Given the description of an element on the screen output the (x, y) to click on. 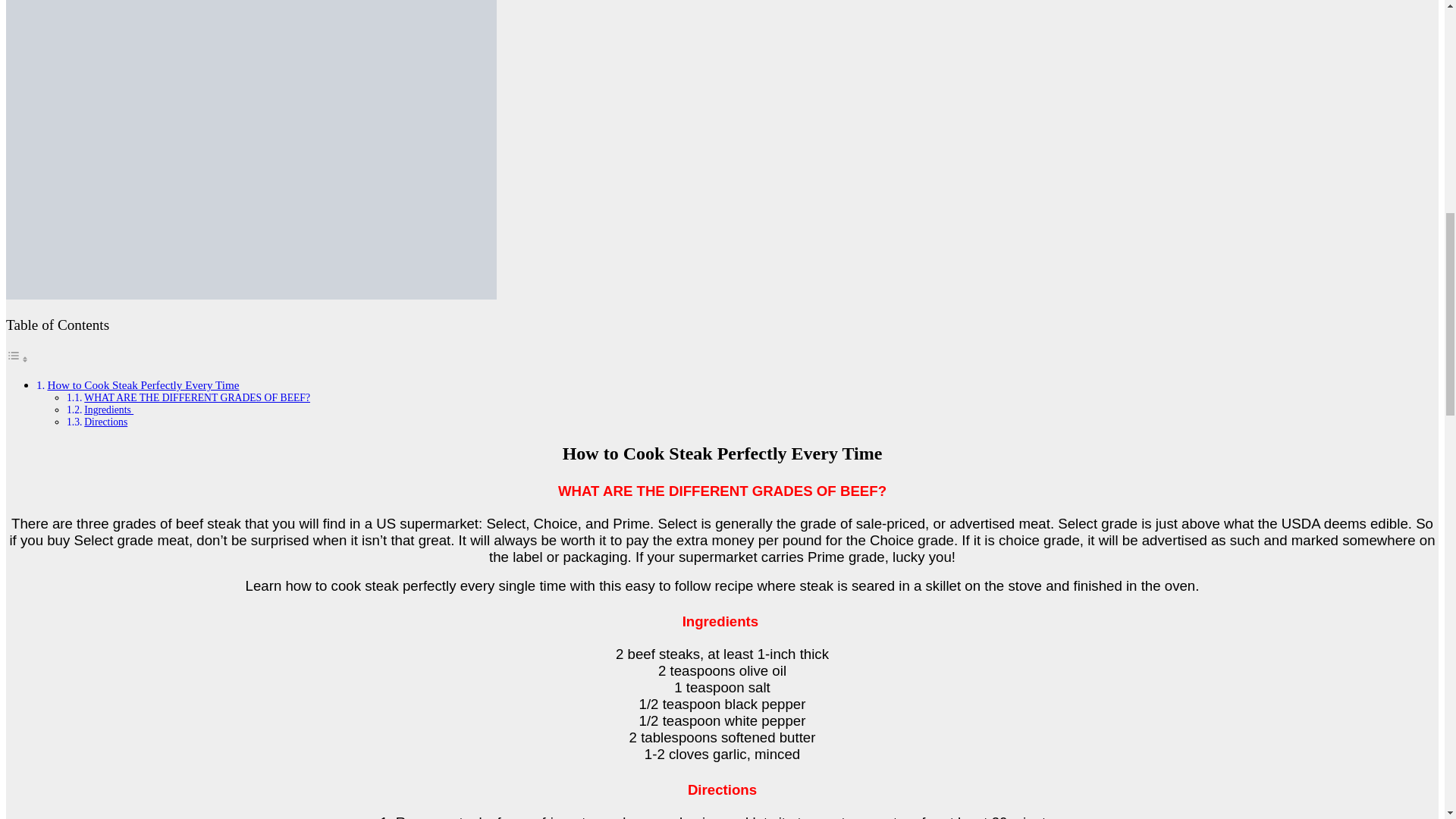
Directions (106, 421)
WHAT ARE THE DIFFERENT GRADES OF BEEF? (197, 397)
How to Cook Steak Perfectly Every Time (142, 384)
How to Cook Steak Perfectly Every Time (142, 384)
WHAT ARE THE DIFFERENT GRADES OF BEEF? (197, 397)
Directions (106, 421)
Ingredients  (108, 409)
